Given the description of an element on the screen output the (x, y) to click on. 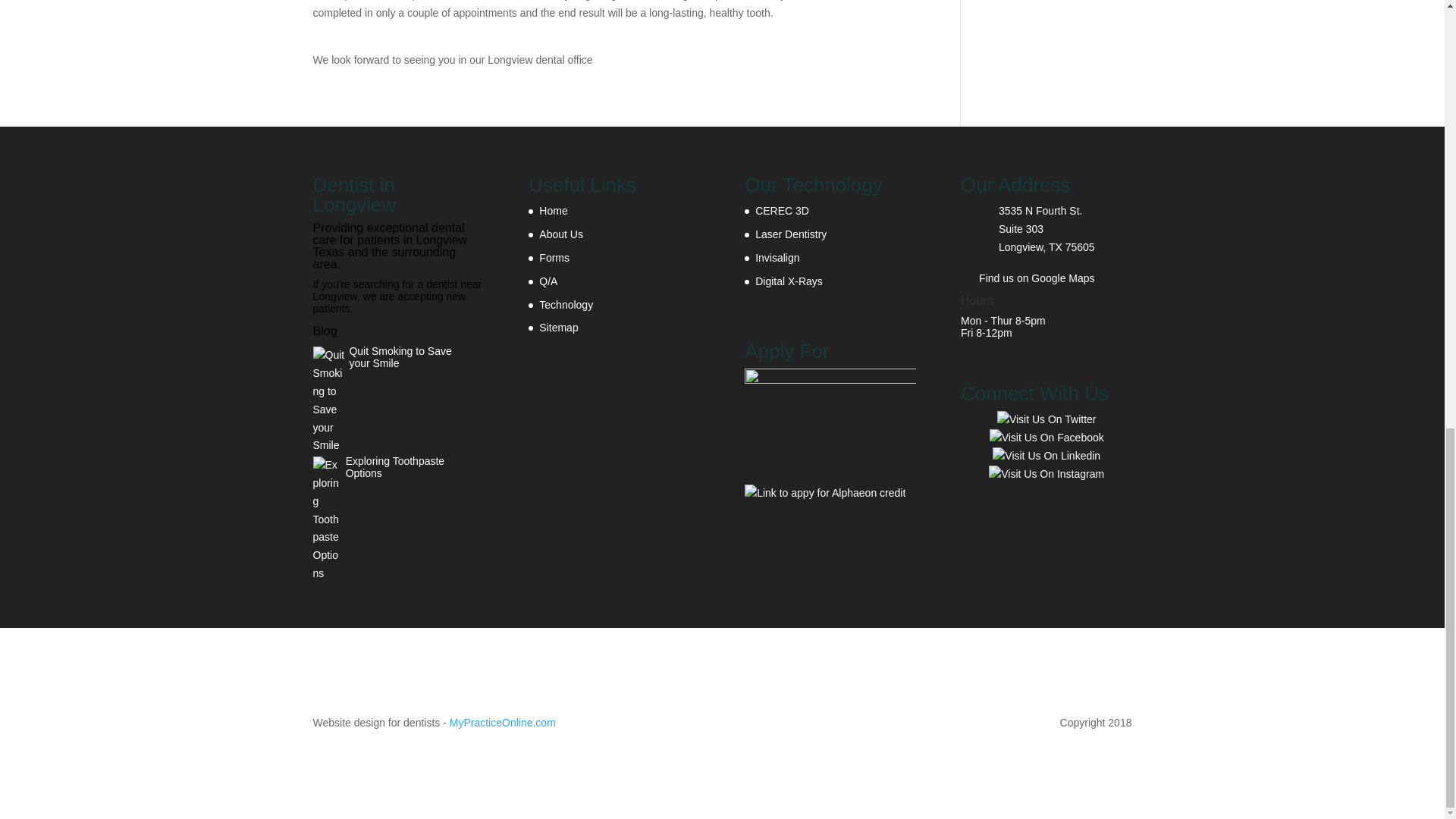
About Us (560, 234)
Visit Us On Instagram (1045, 472)
Invisalign (777, 257)
Visit Us On Twitter (1045, 419)
Laser Dentistry (791, 234)
Visit Us On Linkedin (1045, 455)
Visit Us On Facebook (1045, 437)
Home (552, 210)
CEREC 3D (782, 210)
Quit Smoking to Save your Smile (390, 356)
